Given the description of an element on the screen output the (x, y) to click on. 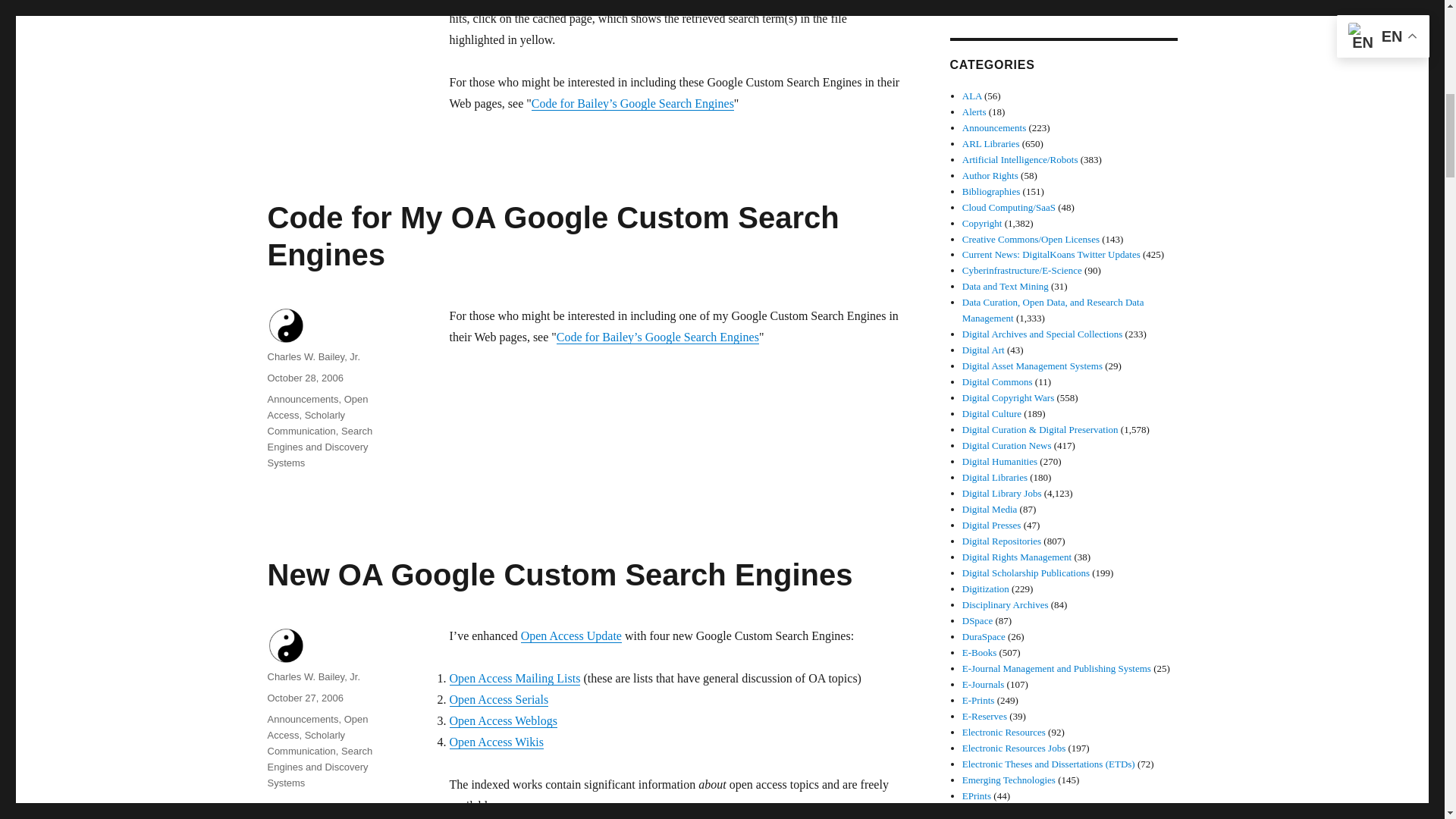
Charles W. Bailey, Jr. (312, 676)
Scholarly Communication (305, 742)
Charles W. Bailey, Jr. (312, 356)
Open Access Weblogs (502, 720)
Open Access Serials (498, 698)
October 27, 2006 (304, 697)
Announcements (301, 718)
October 28, 2006 (304, 378)
Open Access Wikis (495, 741)
Search Engines and Discovery Systems (319, 446)
Open Access Update (571, 635)
Scholarly Communication (305, 422)
Open Access (317, 727)
Code for My OA Google Custom Search Engines (552, 235)
Open Access (317, 406)
